Given the description of an element on the screen output the (x, y) to click on. 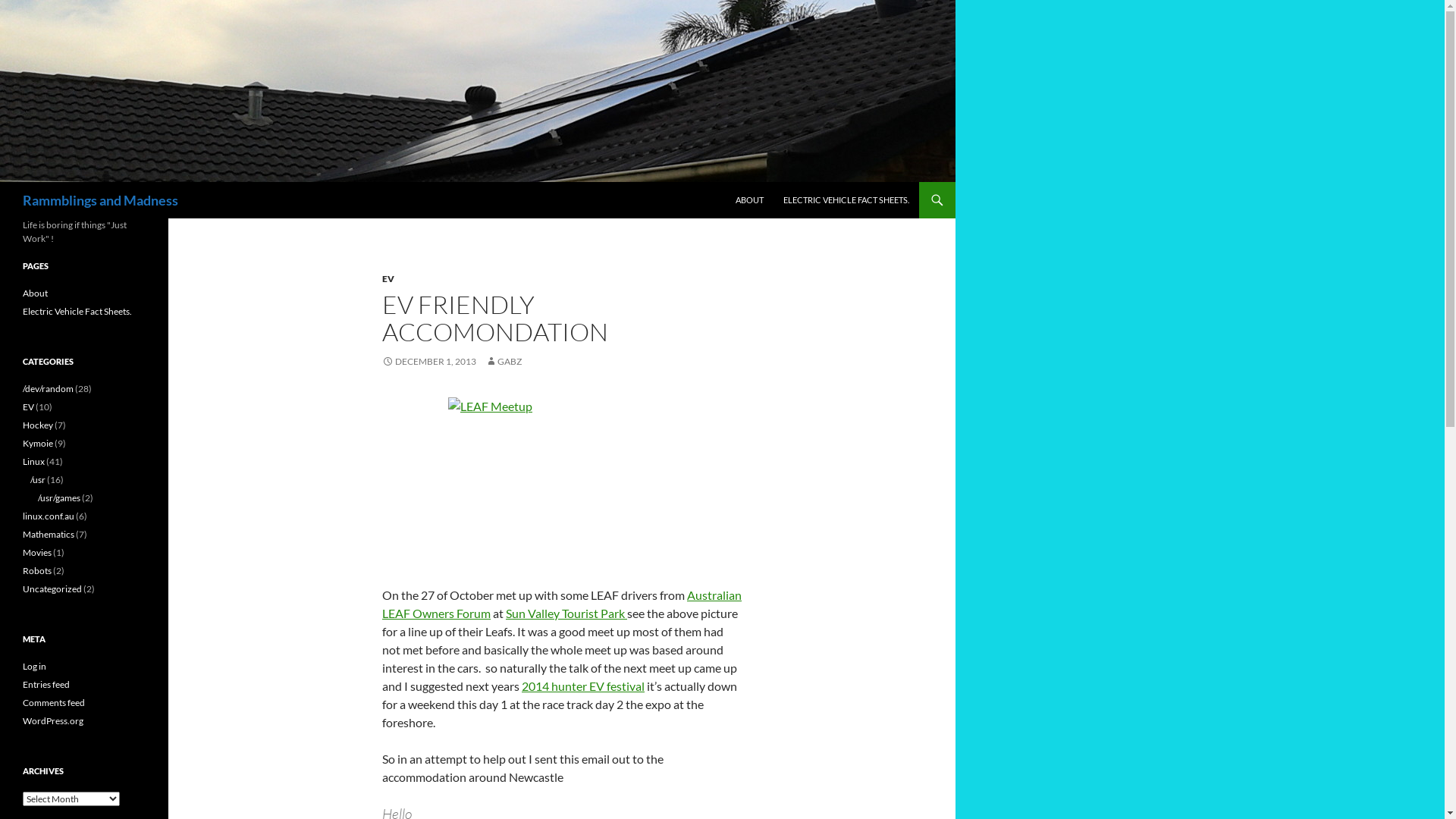
Comments feed Element type: text (53, 702)
Entries feed Element type: text (45, 684)
SKIP TO CONTENT Element type: text (734, 181)
Movies Element type: text (36, 552)
ABOUT Element type: text (749, 200)
Kymoie Element type: text (37, 442)
Linux Element type: text (33, 461)
Uncategorized Element type: text (51, 588)
linux.conf.au Element type: text (48, 515)
Electric Vehicle Fact Sheets. Element type: text (76, 310)
Robots Element type: text (36, 570)
DECEMBER 1, 2013 Element type: text (429, 361)
GABZ Element type: text (503, 361)
Mathematics Element type: text (48, 533)
2014 hunter EV festival Element type: text (582, 685)
ELECTRIC VEHICLE FACT SHEETS. Element type: text (846, 200)
/usr Element type: text (37, 479)
EV Element type: text (388, 278)
/dev/random Element type: text (47, 388)
WordPress.org Element type: text (52, 720)
Log in Element type: text (34, 665)
Sun Valley Tourist Park Element type: text (566, 612)
EV Element type: text (28, 406)
Search Element type: text (3, 181)
Rammblings and Madness Element type: text (100, 200)
About Element type: text (34, 292)
Hockey Element type: text (37, 424)
Australian LEAF Owners Forum Element type: text (561, 603)
/usr/games Element type: text (58, 497)
